Given the description of an element on the screen output the (x, y) to click on. 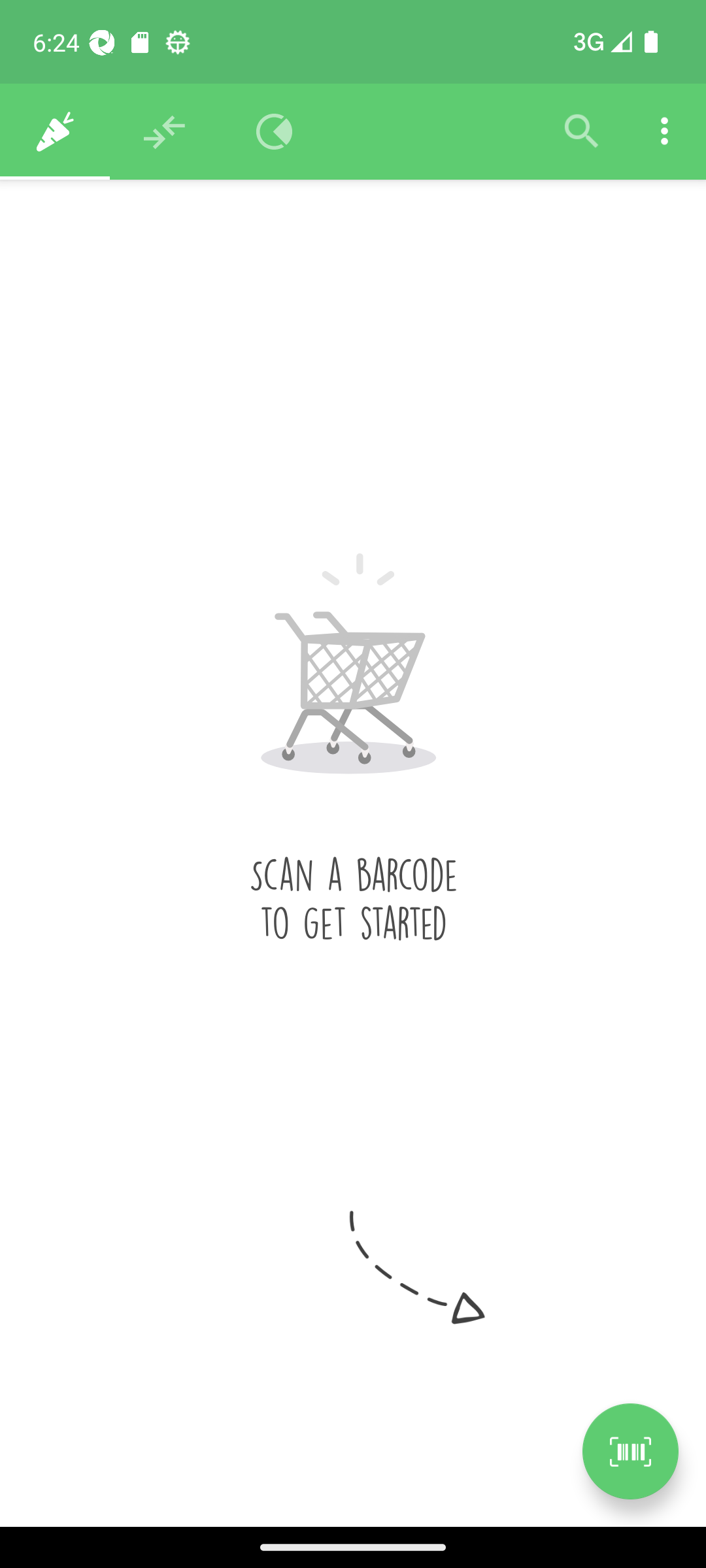
Recommendations (164, 131)
Overview (274, 131)
Filter (581, 131)
Settings (664, 131)
Scan a product (630, 1451)
